Given the description of an element on the screen output the (x, y) to click on. 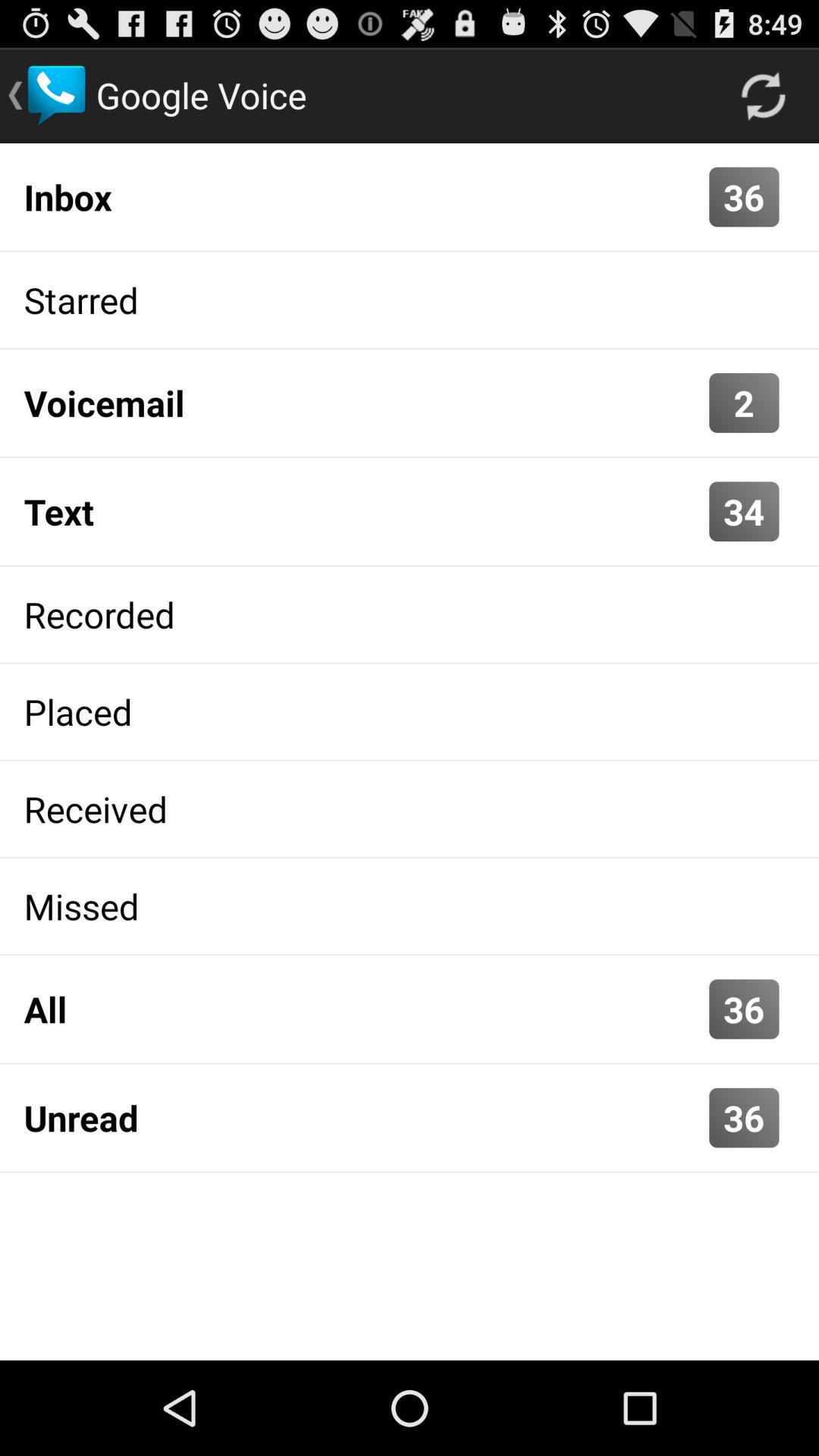
launch icon to the right of the voicemail (744, 402)
